Given the description of an element on the screen output the (x, y) to click on. 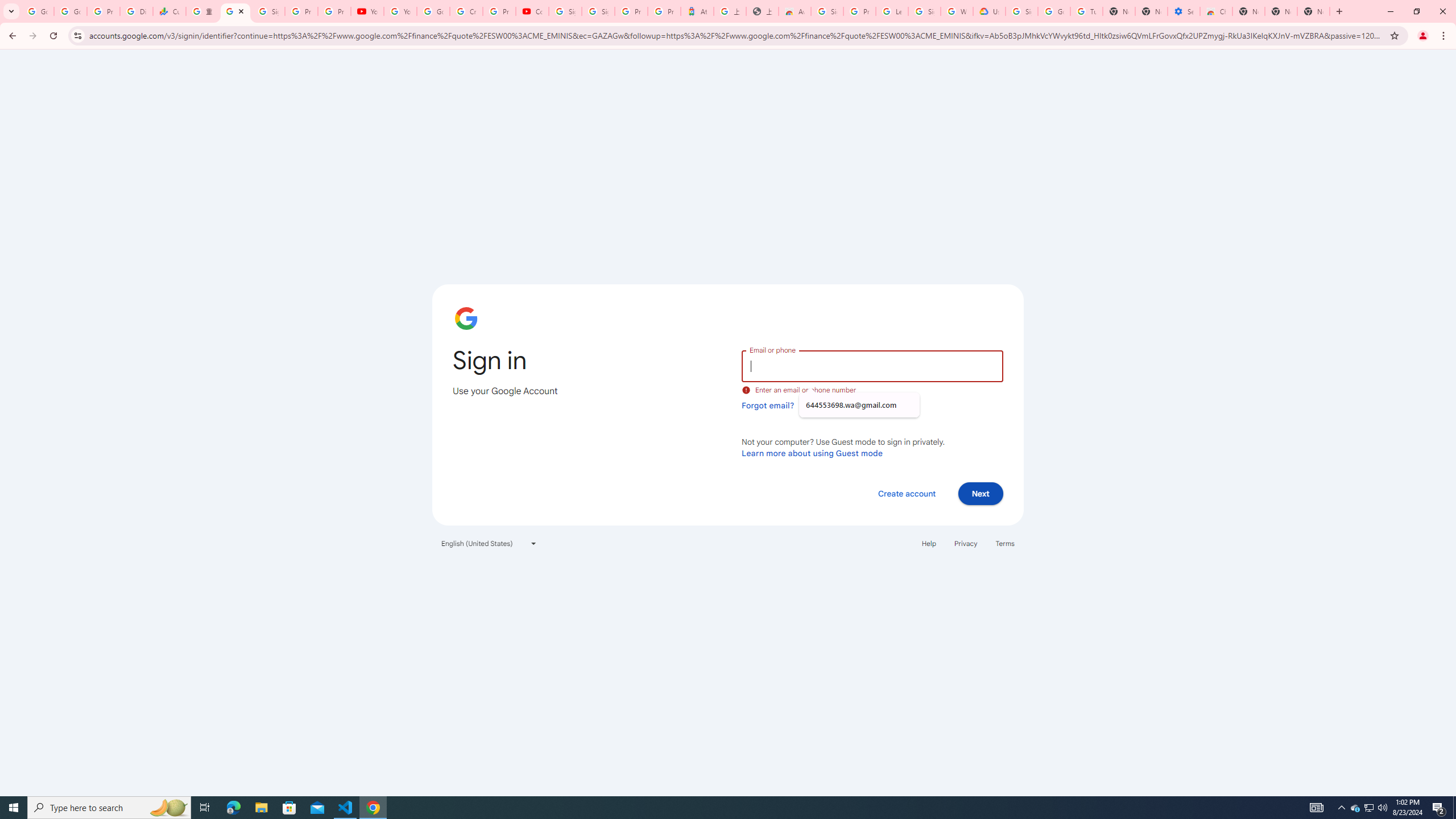
Email or phone (871, 365)
Learn more about using Guest mode (812, 452)
Create account (905, 493)
Currencies - Google Finance (169, 11)
Awesome Screen Recorder & Screenshot - Chrome Web Store (794, 11)
Content Creator Programs & Opportunities - YouTube Creators (532, 11)
